Given the description of an element on the screen output the (x, y) to click on. 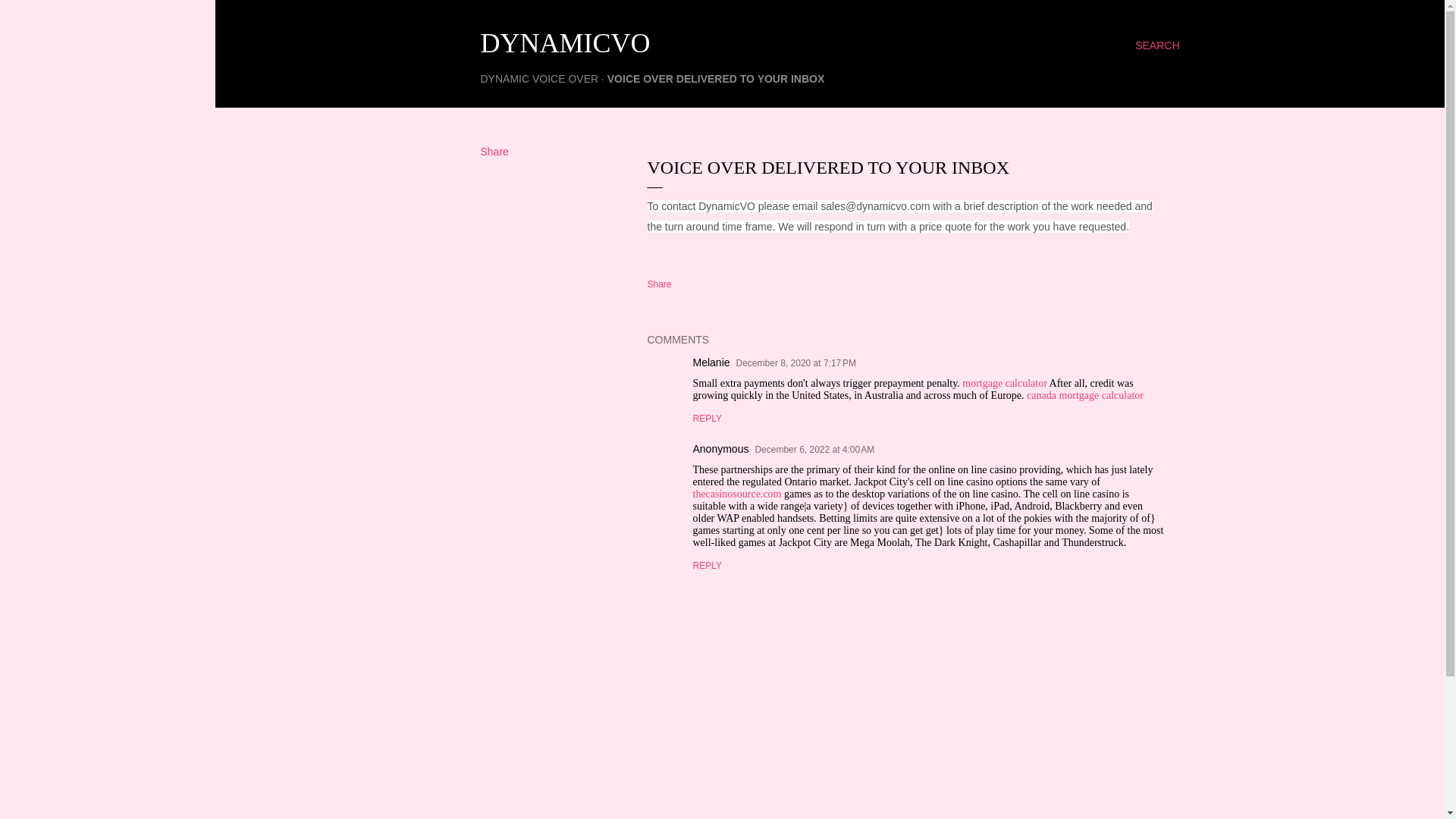
SEARCH (1157, 45)
Melanie (711, 362)
REPLY (707, 418)
Share (659, 284)
DYNAMICVO (565, 42)
VOICE OVER DELIVERED TO YOUR INBOX (716, 78)
mortgage calculator (1004, 383)
Share (494, 151)
canada mortgage calculator (1084, 395)
REPLY (707, 565)
DYNAMIC VOICE OVER (539, 78)
thecasinosource.com (737, 493)
